Given the description of an element on the screen output the (x, y) to click on. 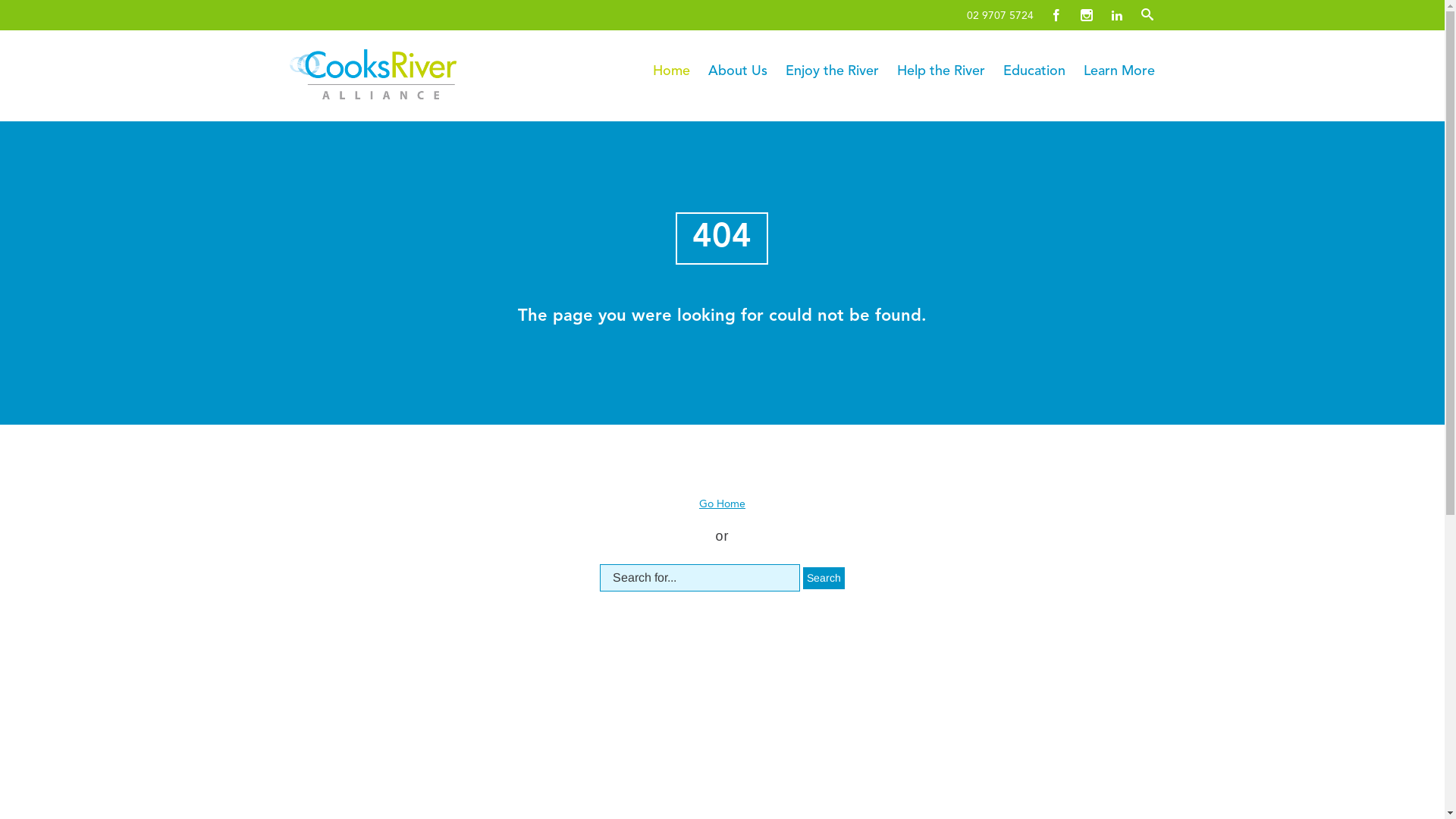
LinkedIn Element type: hover (1116, 15)
Search Element type: text (823, 578)
Enjoy the River Element type: text (832, 70)
02 9707 5724 Element type: text (1003, 12)
Education Element type: text (1034, 70)
Go Home Element type: text (722, 503)
Cooks River Alliance Element type: hover (413, 73)
Instagram Element type: hover (1086, 15)
Facebook Element type: hover (1056, 15)
Help the River Element type: text (940, 70)
Learn More Element type: text (1119, 70)
Home Element type: text (671, 70)
About Us Element type: text (737, 70)
Search Element type: text (20, 10)
